Given the description of an element on the screen output the (x, y) to click on. 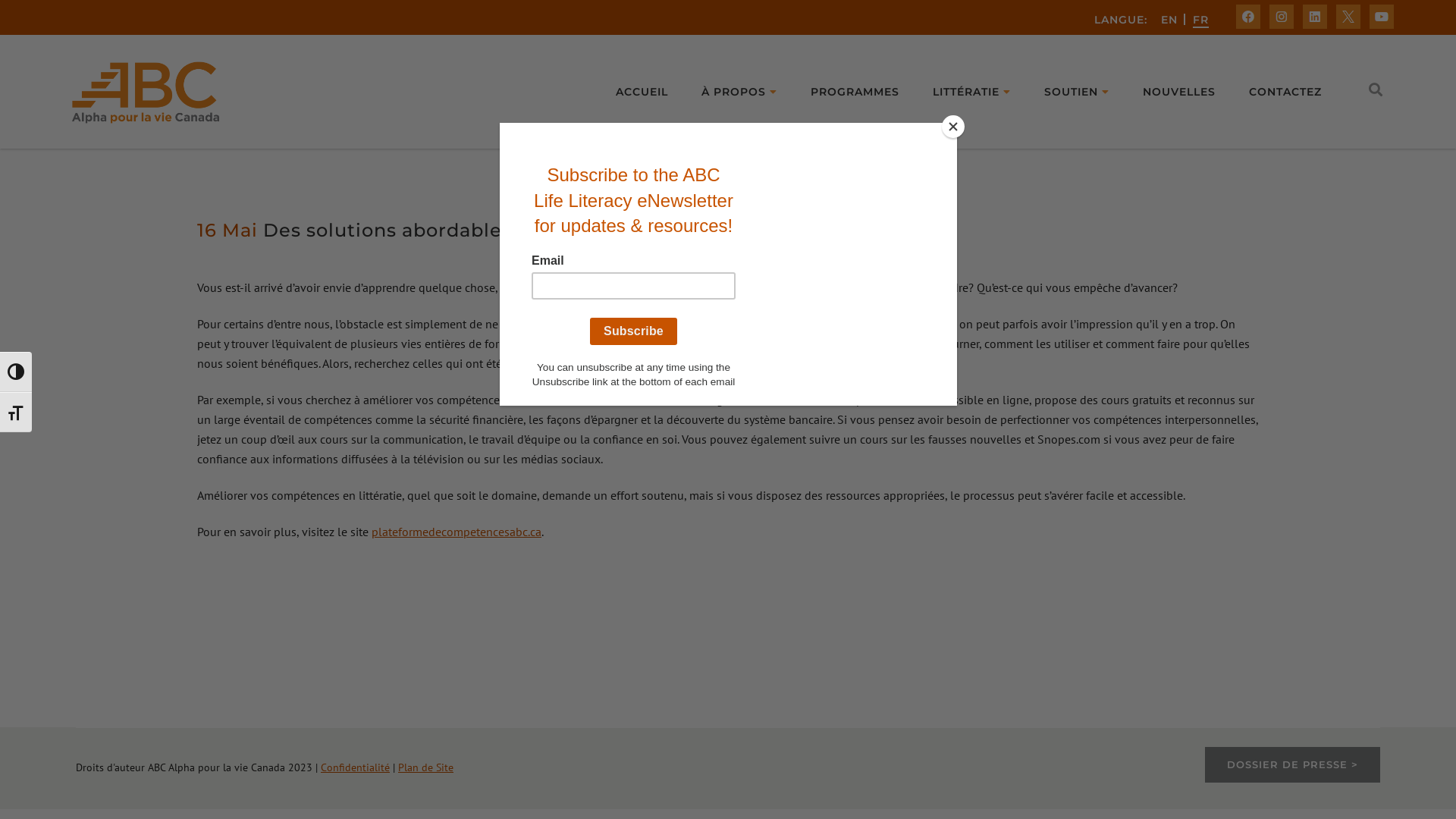
SOUTIEN Element type: text (1076, 91)
DOSSIER DE PRESSE > Element type: text (1292, 764)
CONTACTEZ Element type: text (1285, 91)
EN Element type: text (1169, 19)
FR Element type: text (1200, 19)
ACCUEIL Element type: text (641, 91)
NOUVELLES Element type: text (1179, 91)
Changer la taille de la police Element type: text (15, 412)
plateformedecompetencesabc.ca Element type: text (456, 531)
Plan de Site Element type: text (425, 766)
PROGRAMMES Element type: text (854, 91)
